Given the description of an element on the screen output the (x, y) to click on. 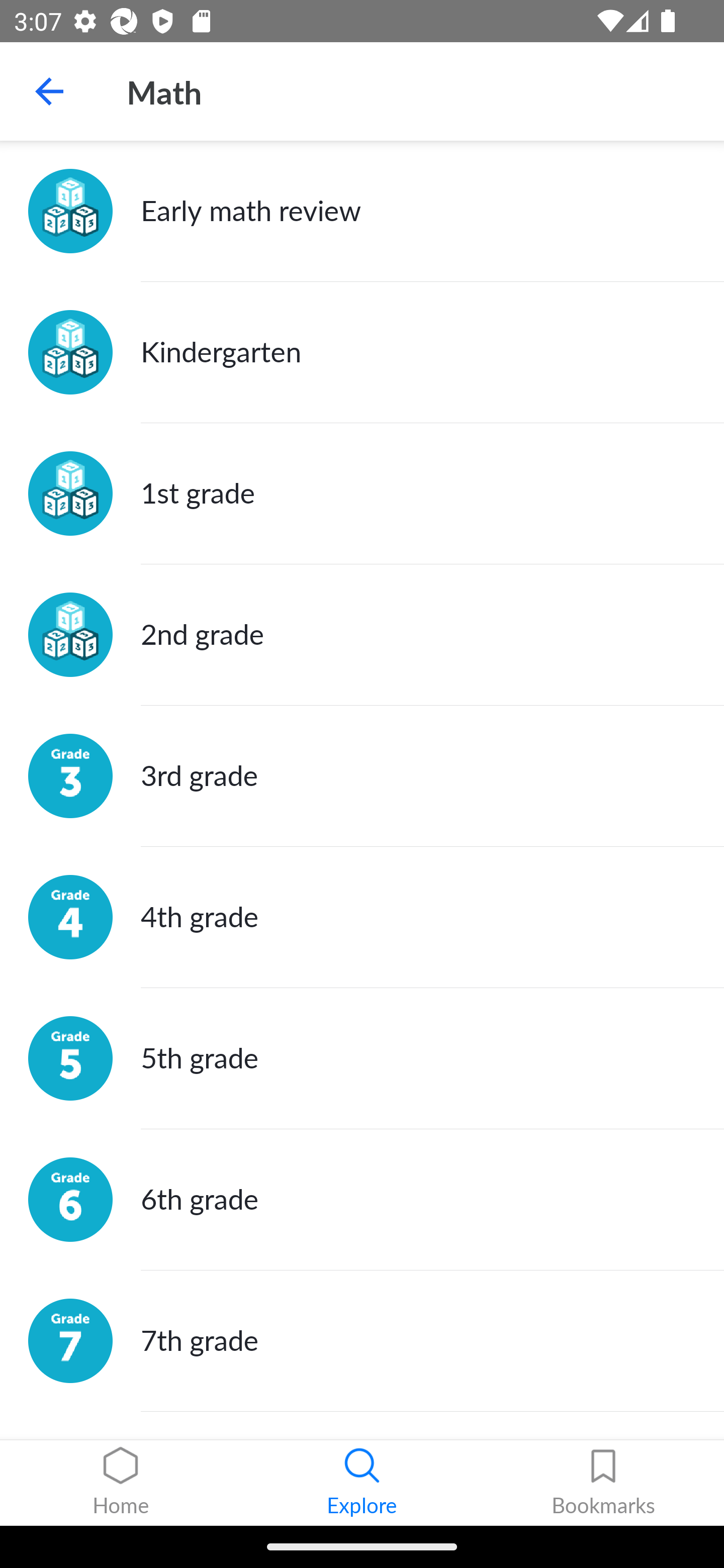
Navigate up (49, 91)
Early math review (362, 211)
Kindergarten (362, 352)
1st grade (362, 493)
2nd grade (362, 634)
3rd grade (362, 775)
4th grade (362, 916)
5th grade (362, 1057)
6th grade (362, 1199)
7th grade (362, 1340)
Home (120, 1482)
Explore (361, 1482)
Bookmarks (603, 1482)
